Given the description of an element on the screen output the (x, y) to click on. 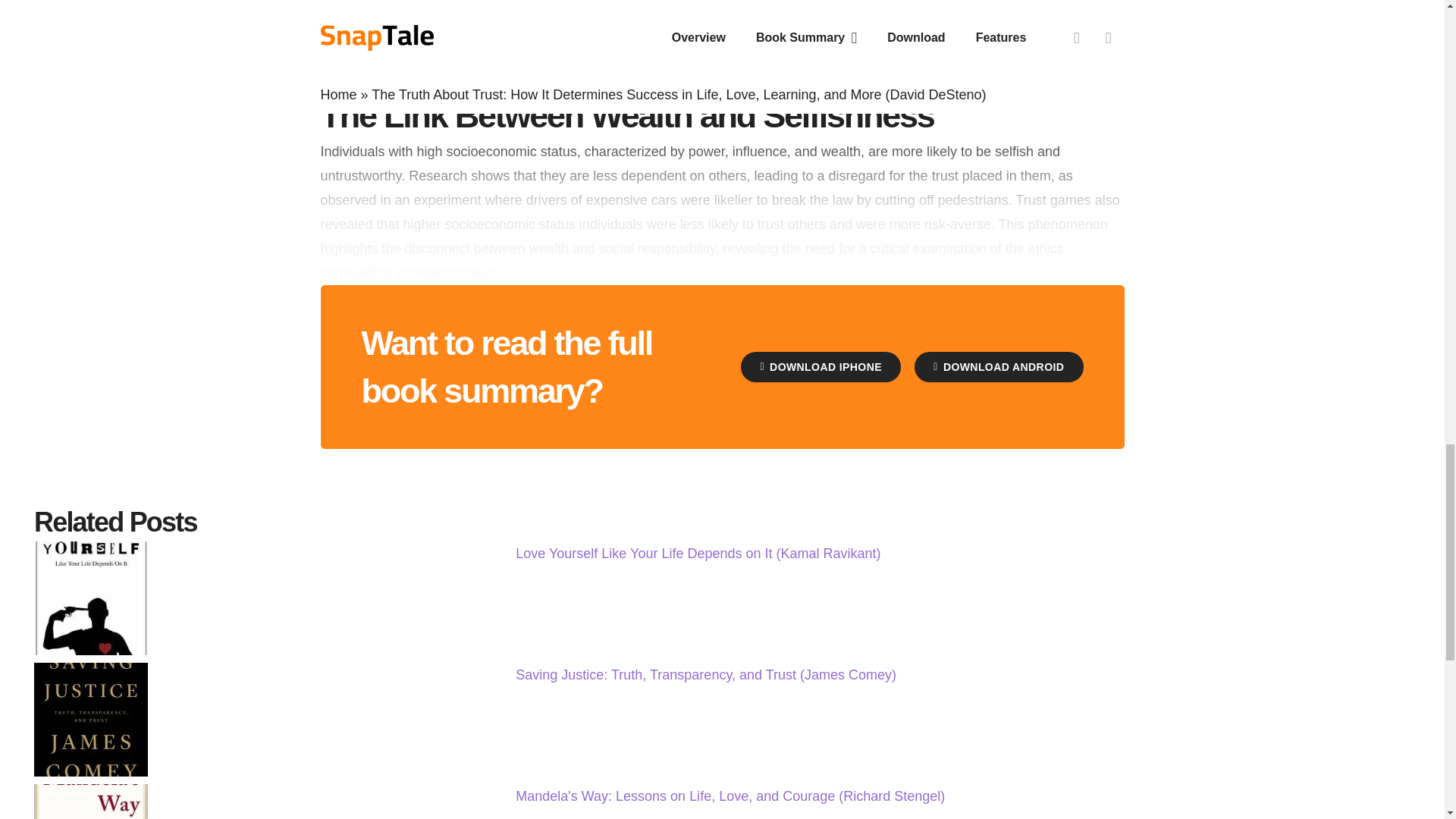
DOWNLOAD IPHONE (821, 366)
